Given the description of an element on the screen output the (x, y) to click on. 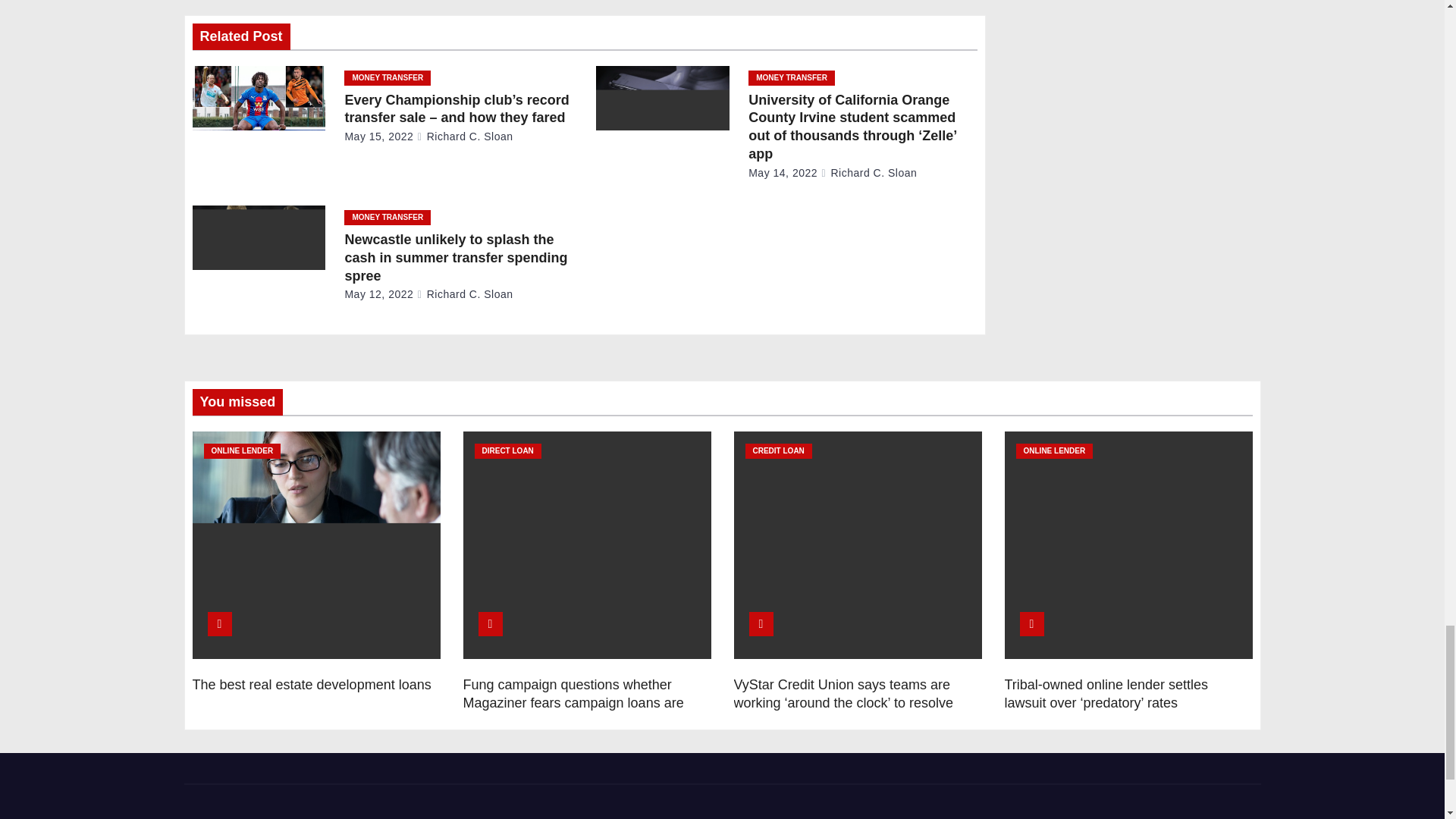
MONEY TRANSFER (386, 77)
Permalink to: The best real estate development loans (311, 684)
